Given the description of an element on the screen output the (x, y) to click on. 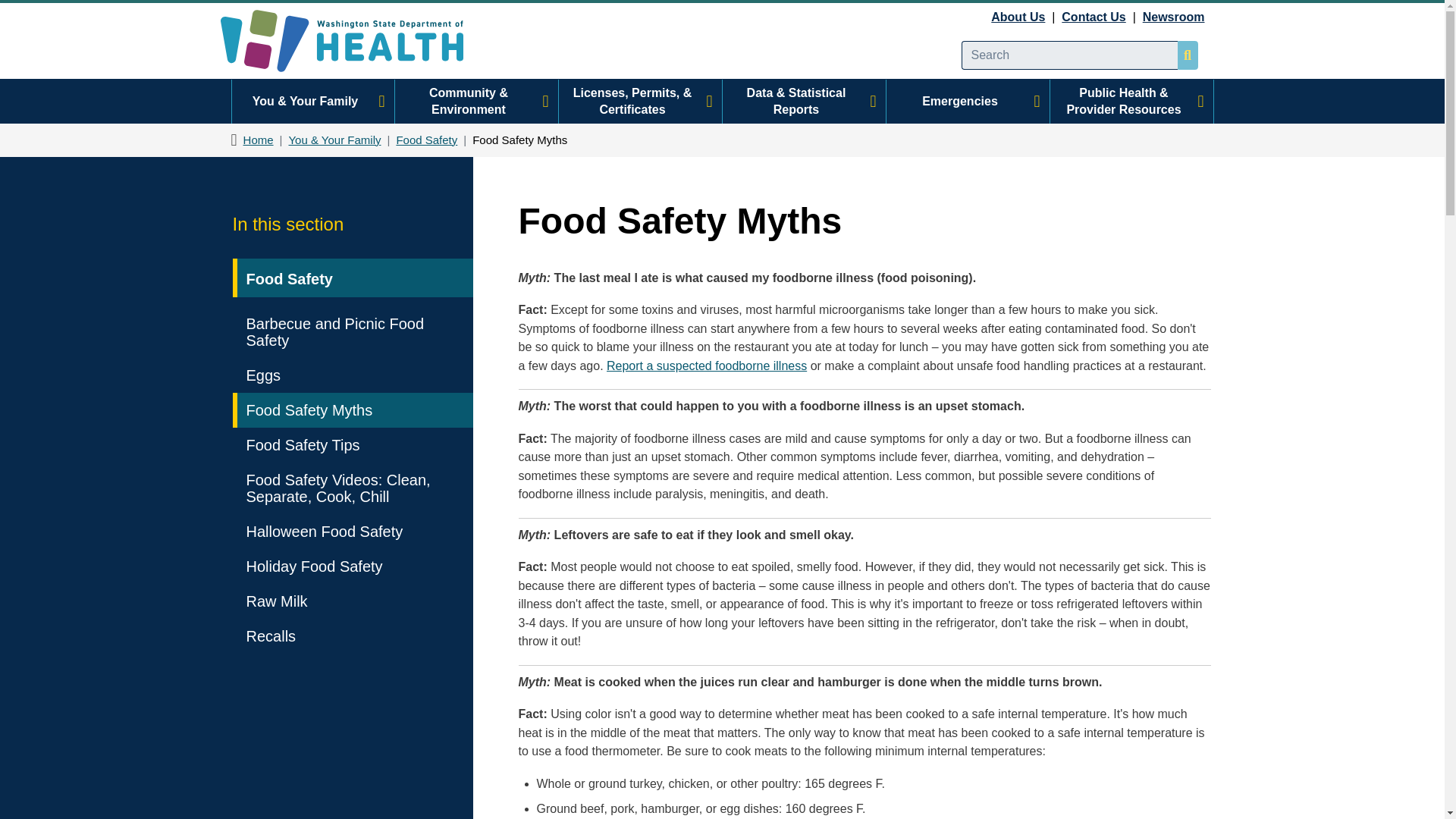
Home (354, 40)
Enter the terms you wish to search for. (1068, 54)
